Given the description of an element on the screen output the (x, y) to click on. 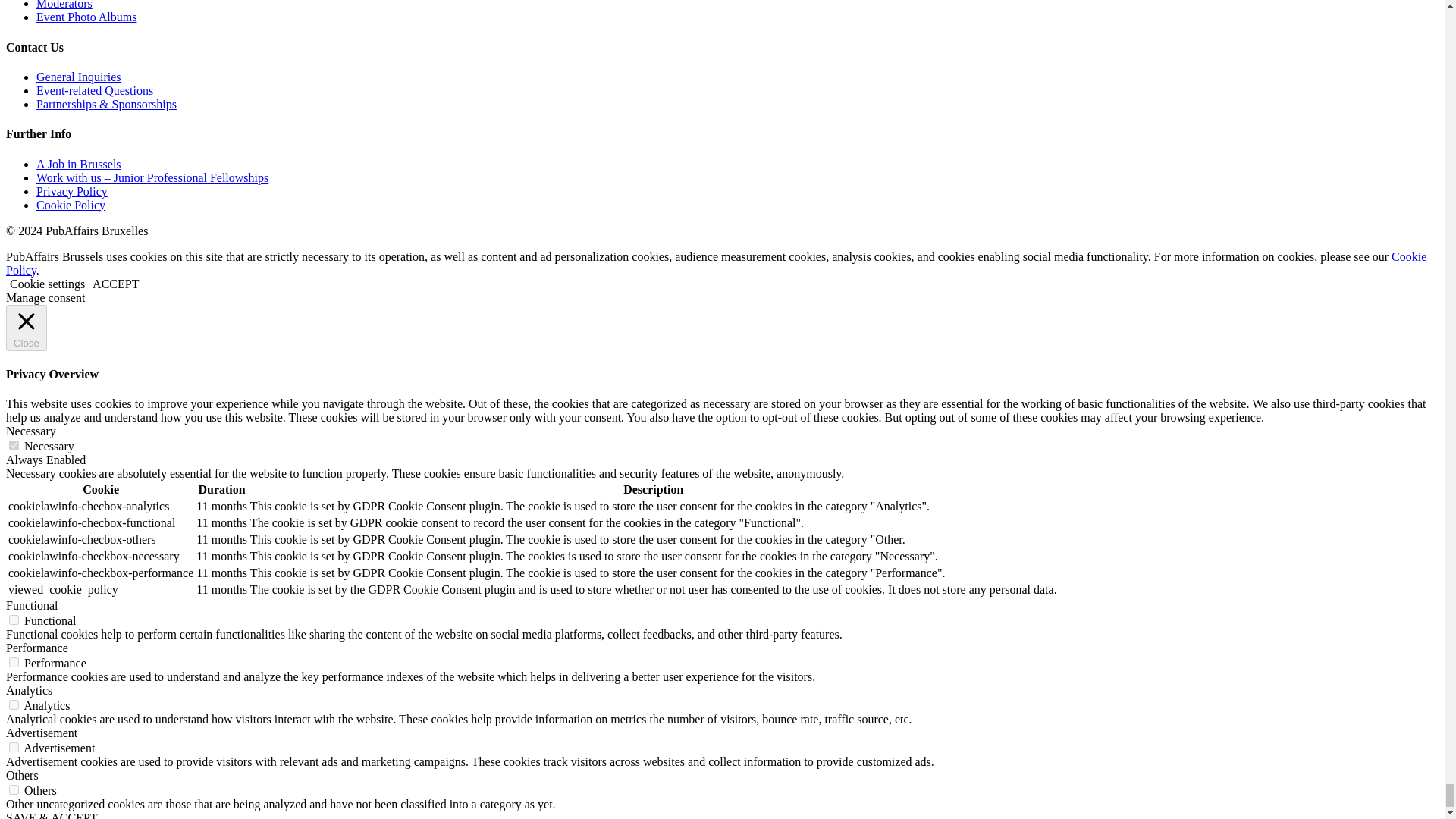
on (13, 619)
on (13, 789)
on (13, 662)
on (13, 445)
on (13, 705)
on (13, 747)
